Given the description of an element on the screen output the (x, y) to click on. 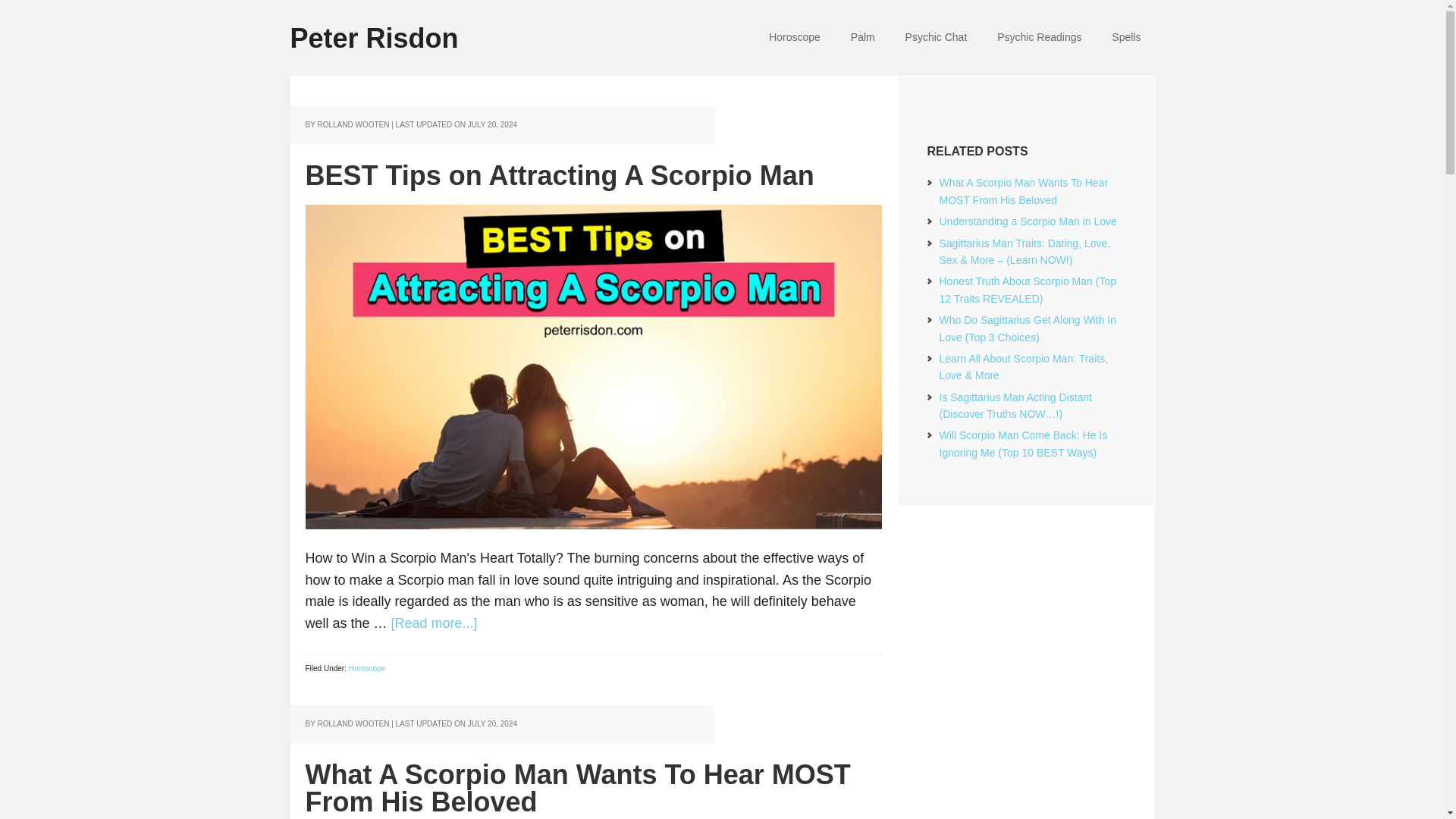
What A Scorpio Man Wants To Hear MOST From His Beloved (577, 788)
Horoscope (367, 668)
Peter Risdon (410, 27)
Psychic Readings (1039, 38)
BEST Tips on Attracting A Scorpio Man (558, 174)
Horoscope (794, 38)
Psychic Chat (936, 38)
